Given the description of an element on the screen output the (x, y) to click on. 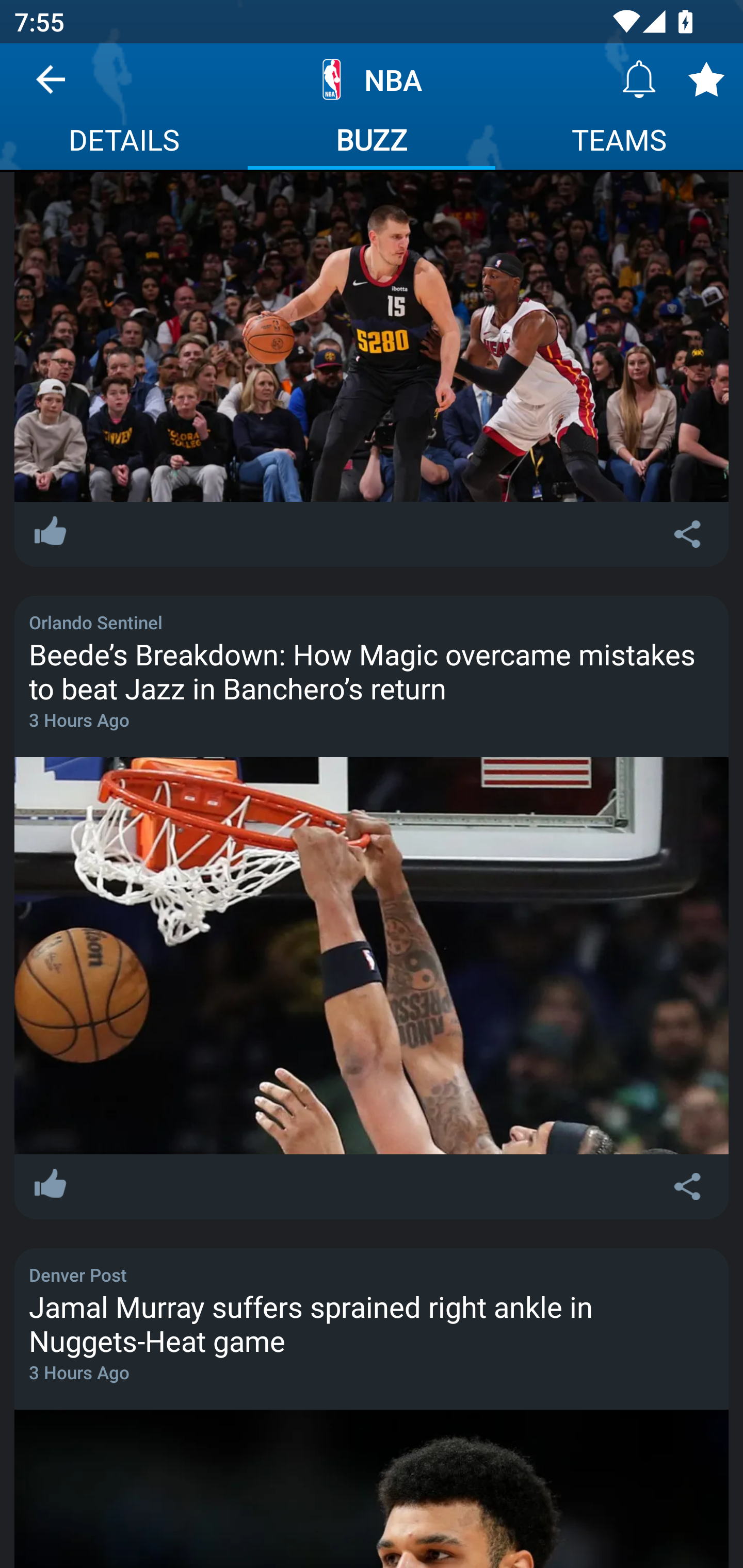
Navigate up (50, 86)
DETAILS (123, 142)
BUZZ (371, 142)
TEAMS (619, 142)
